Given the description of an element on the screen output the (x, y) to click on. 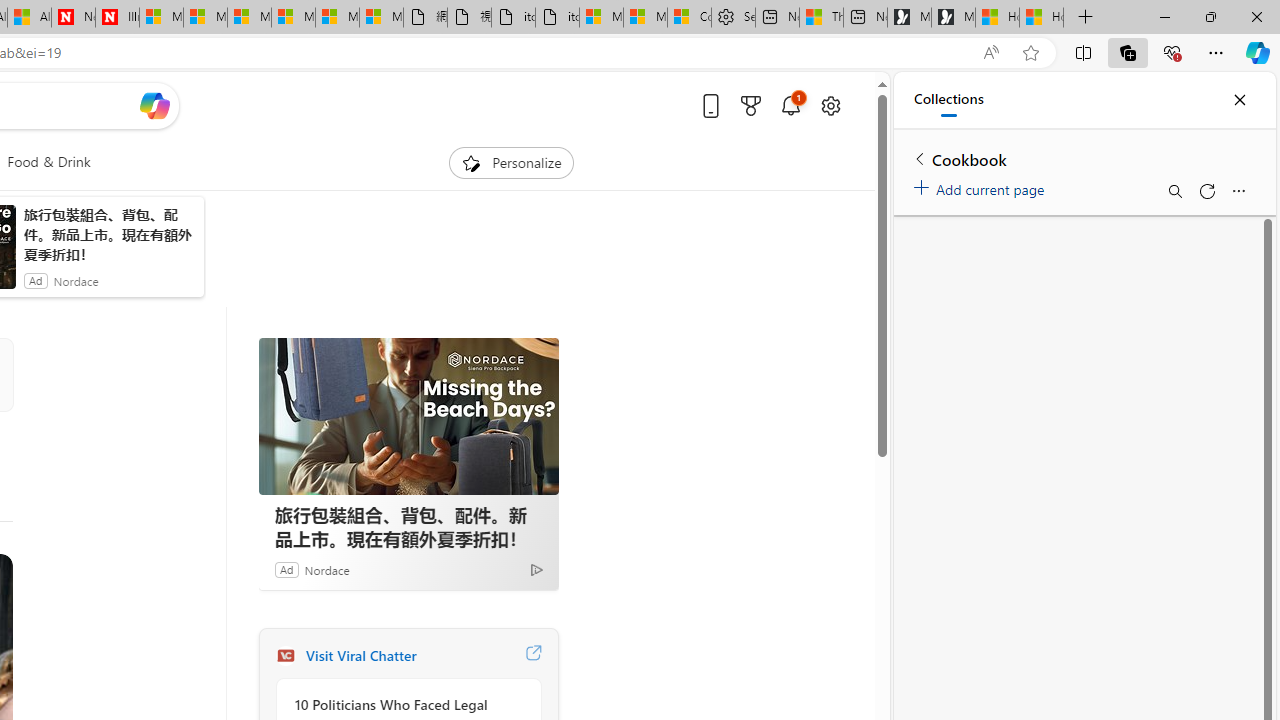
Ad (286, 569)
Restore (1210, 16)
Browser essentials (1171, 52)
Minimize (1164, 16)
Three Ways To Stop Sweating So Much (821, 17)
Microsoft Start Gaming (953, 17)
Copilot (Ctrl+Shift+.) (1258, 52)
New Tab (1085, 17)
Settings and more (Alt+F) (1215, 52)
Search (1174, 190)
Collections (1128, 52)
Close (1239, 99)
Microsoft rewards (749, 105)
